Given the description of an element on the screen output the (x, y) to click on. 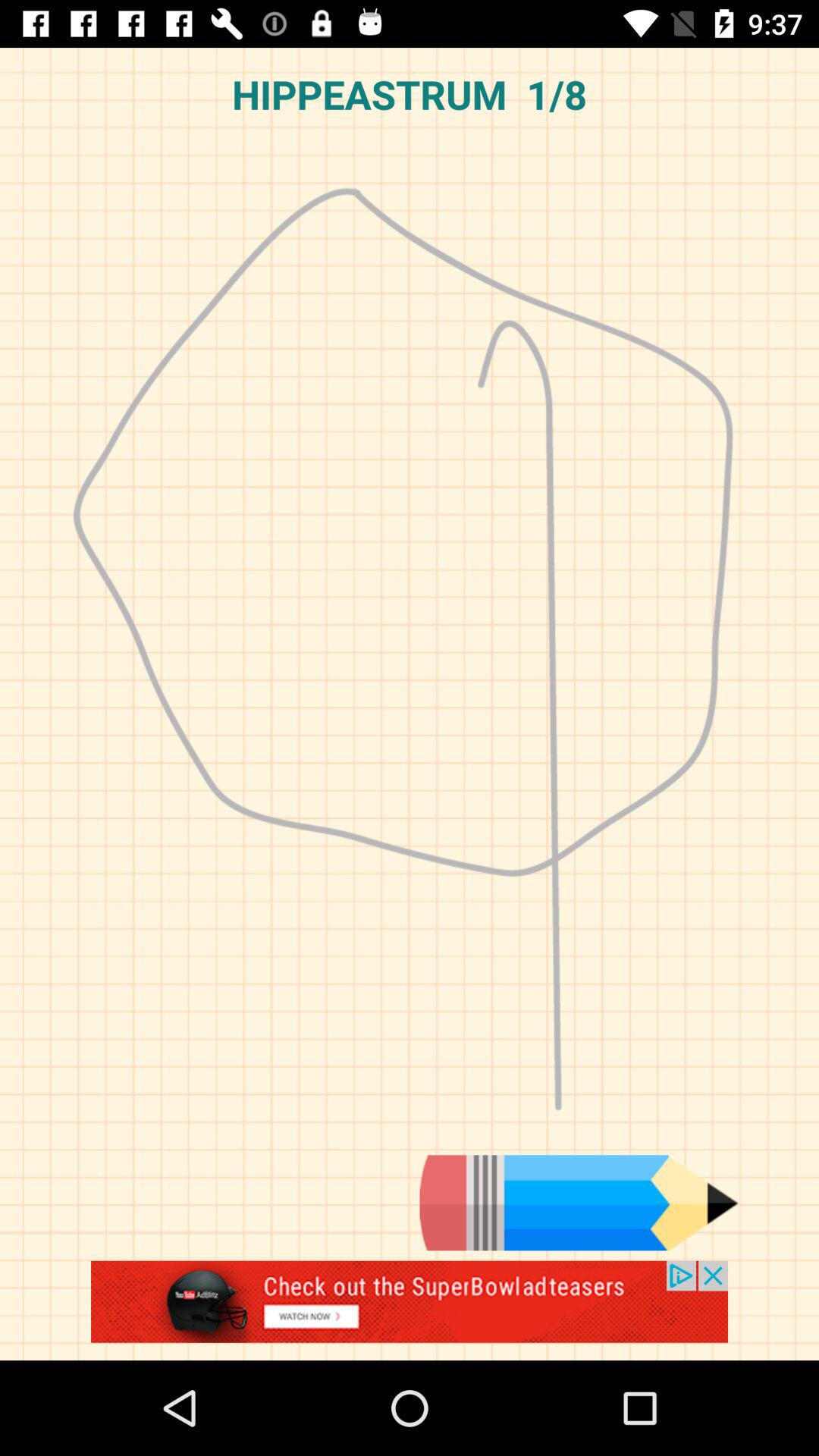
go to drawing (409, 1310)
